Given the description of an element on the screen output the (x, y) to click on. 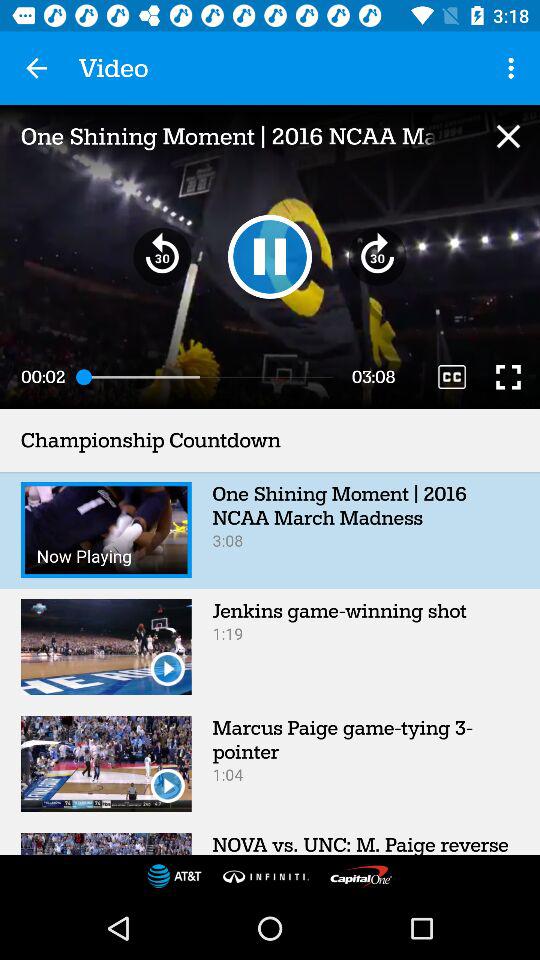
launch the icon next to the video app (36, 68)
